Given the description of an element on the screen output the (x, y) to click on. 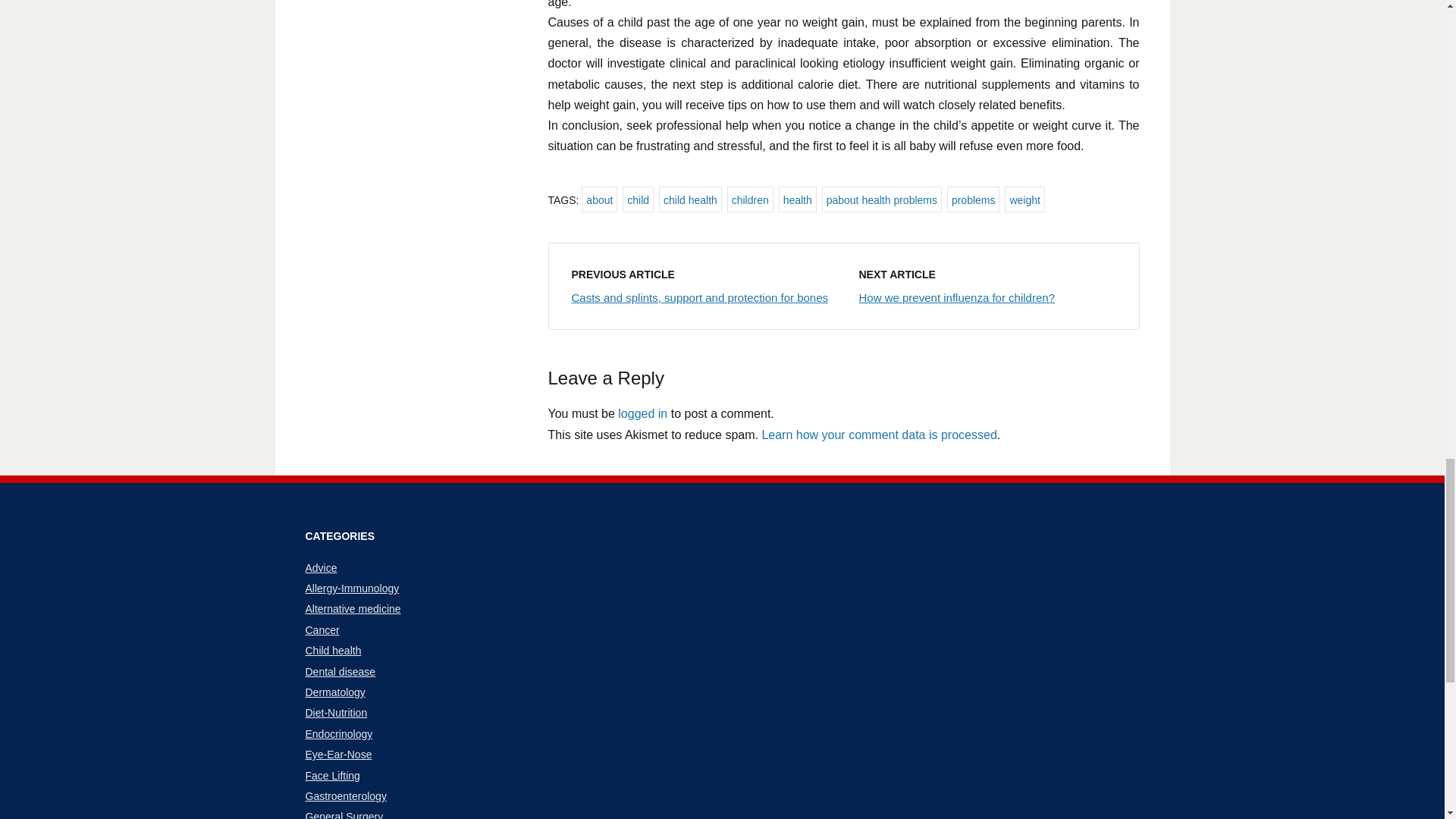
children (749, 199)
health (797, 199)
child (638, 199)
child health (690, 199)
Casts and splints, support and protection for bones (700, 297)
How we prevent influenza for children? (956, 297)
about (598, 199)
problems (973, 199)
pabout health problems (882, 199)
Learn how your comment data is processed (878, 433)
